Given the description of an element on the screen output the (x, y) to click on. 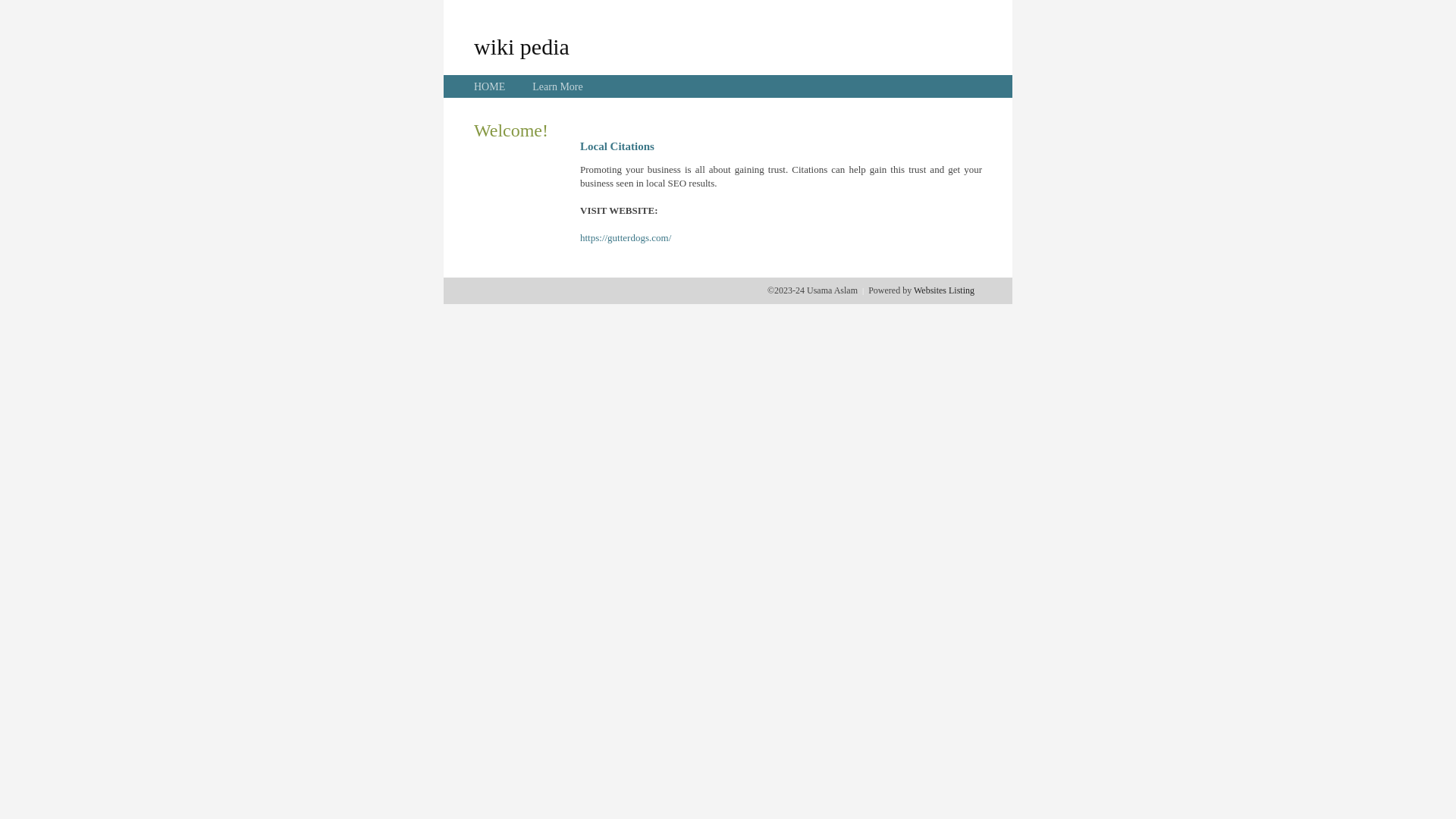
wiki pedia Element type: text (521, 46)
https://gutterdogs.com/ Element type: text (625, 237)
HOME Element type: text (489, 86)
Learn More Element type: text (557, 86)
Websites Listing Element type: text (943, 290)
